Given the description of an element on the screen output the (x, y) to click on. 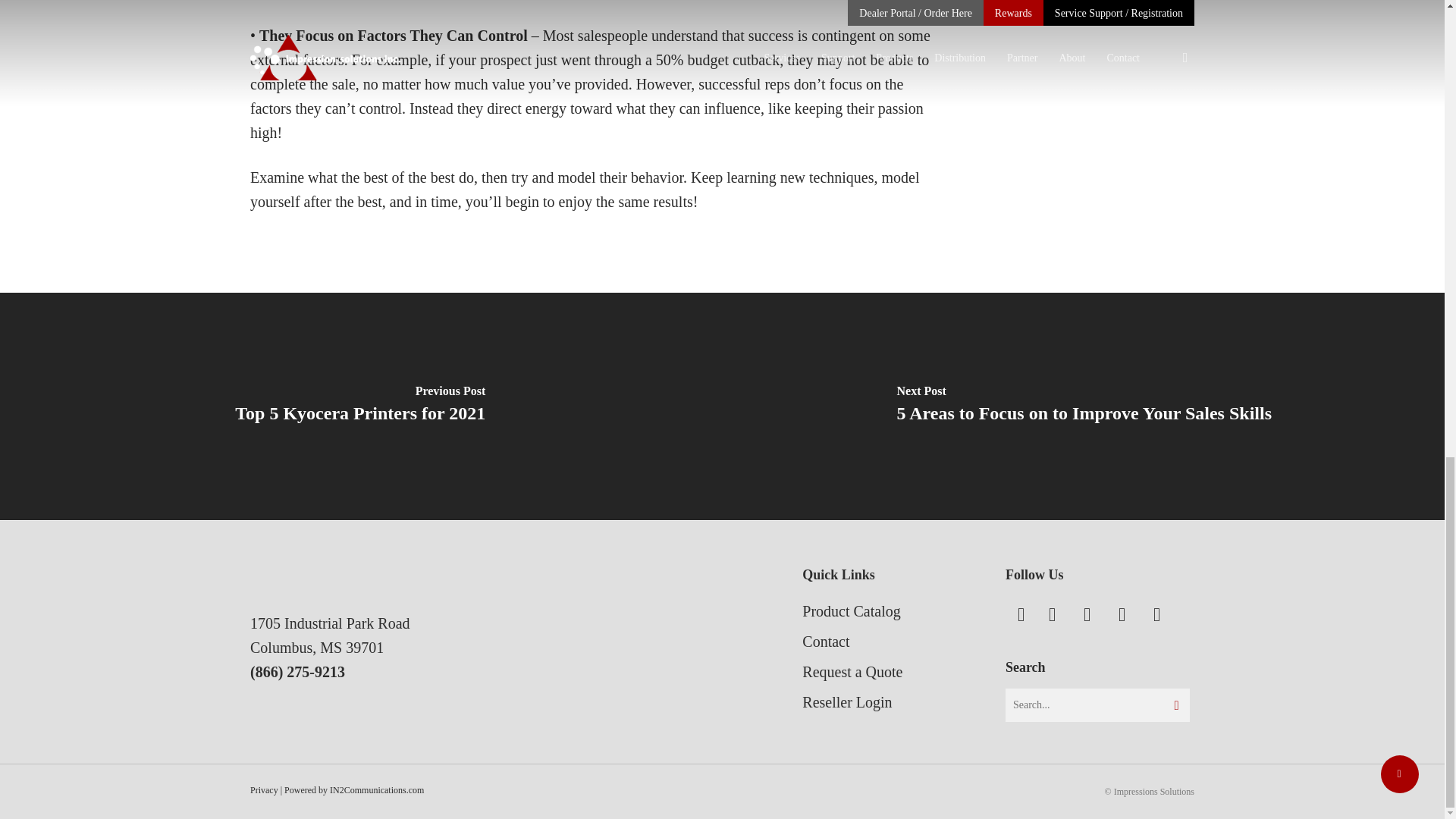
Search for: (1097, 704)
